Given the description of an element on the screen output the (x, y) to click on. 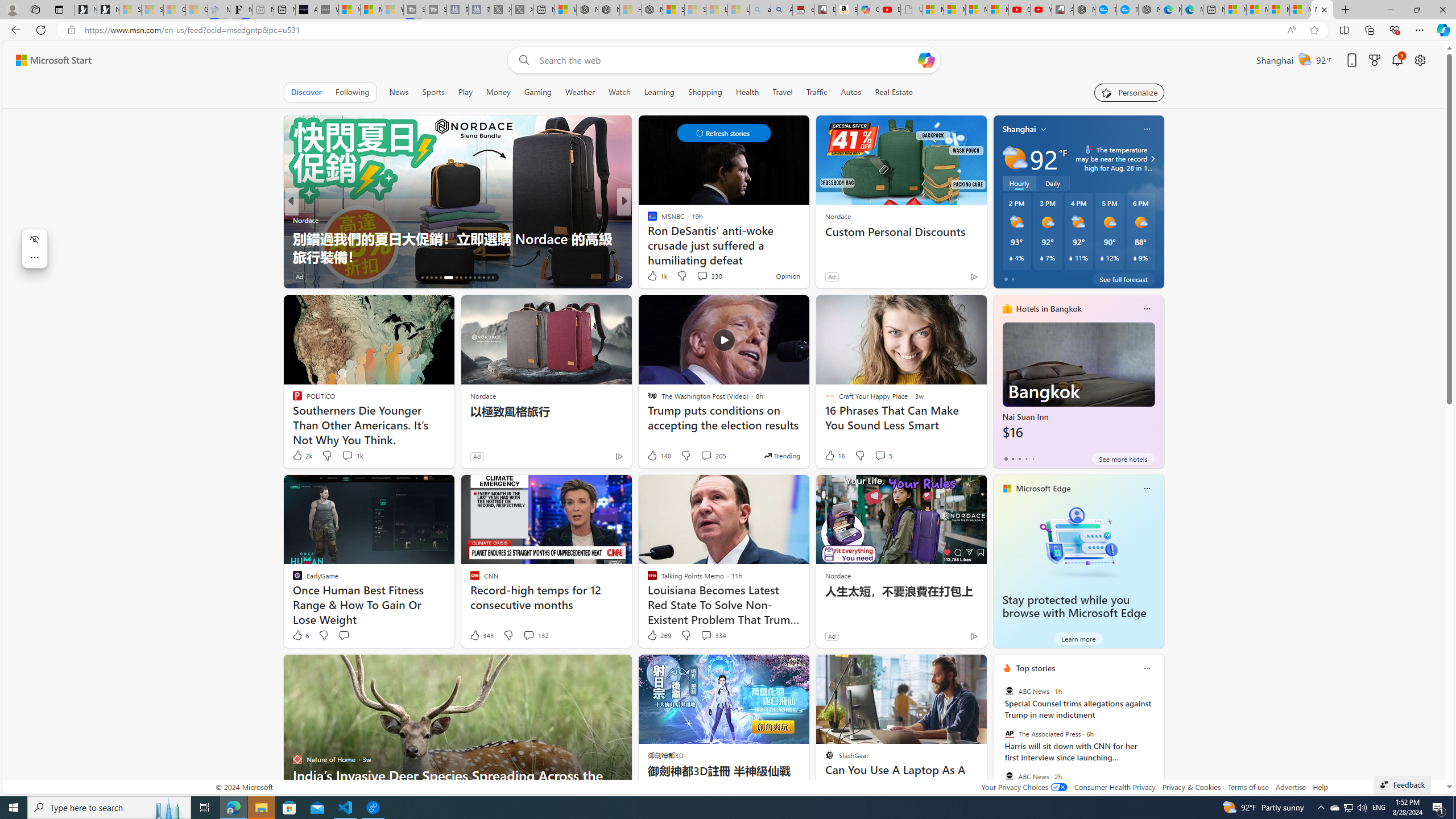
5 Like (651, 276)
View comments 334 Comment (705, 635)
Nordace - Nordace Siena Is Not An Ordinary Backpack (652, 9)
View comments 1k Comment (352, 455)
AutomationID: tab-19 (435, 277)
